Given the description of an element on the screen output the (x, y) to click on. 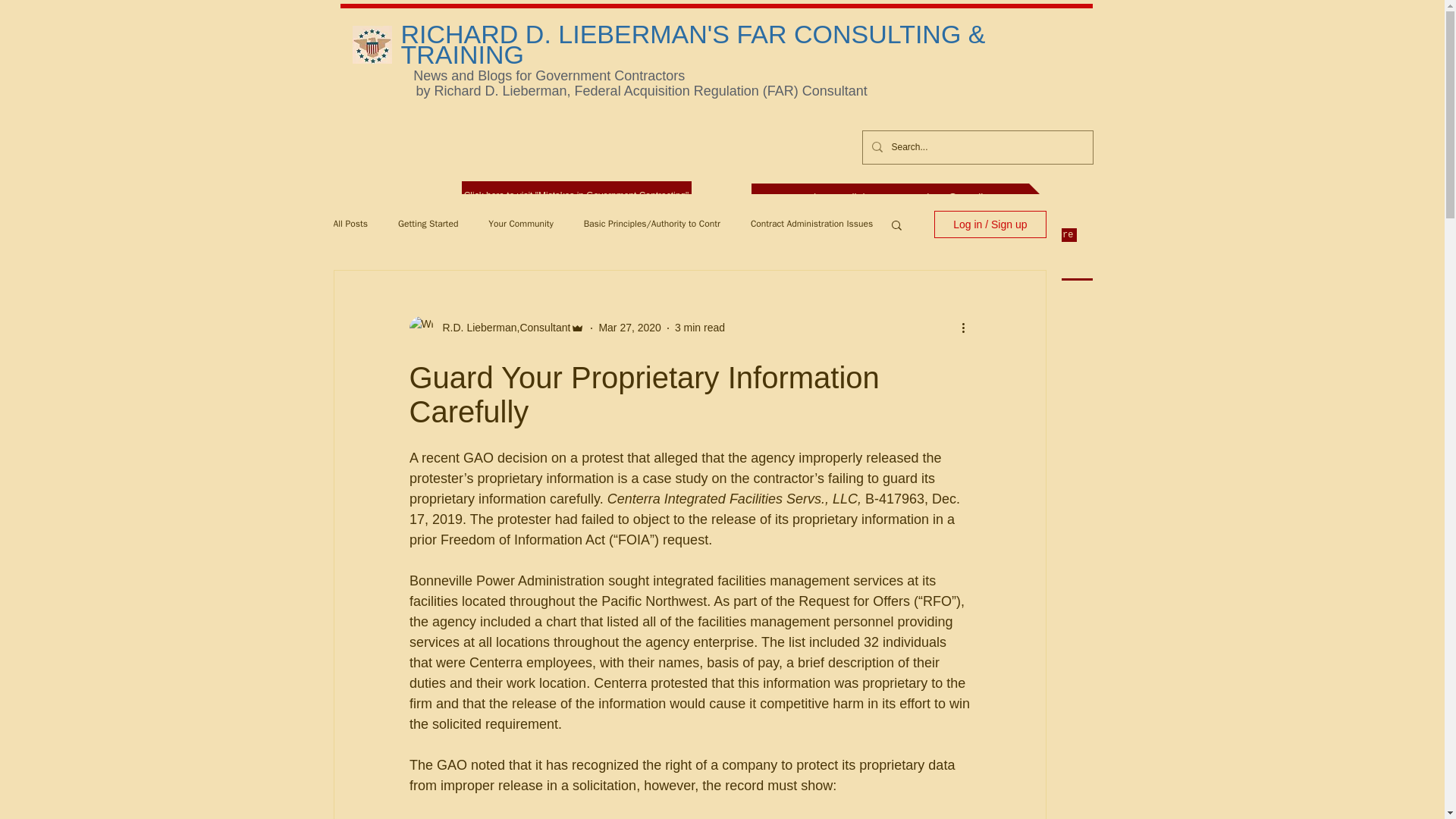
Click here to visit "Mistakes in Government Contracting" (575, 195)
Federal Acquisition Regulat. Consulting (473, 234)
Books (804, 234)
Contract Administration Issues (811, 223)
Getting Started (427, 223)
Mar 27, 2020 (629, 327)
Consulting (697, 234)
R.D. Lieberman,Consultant (501, 327)
3 min read (700, 327)
Your Community (520, 223)
Training (757, 234)
All Posts (350, 223)
